Given the description of an element on the screen output the (x, y) to click on. 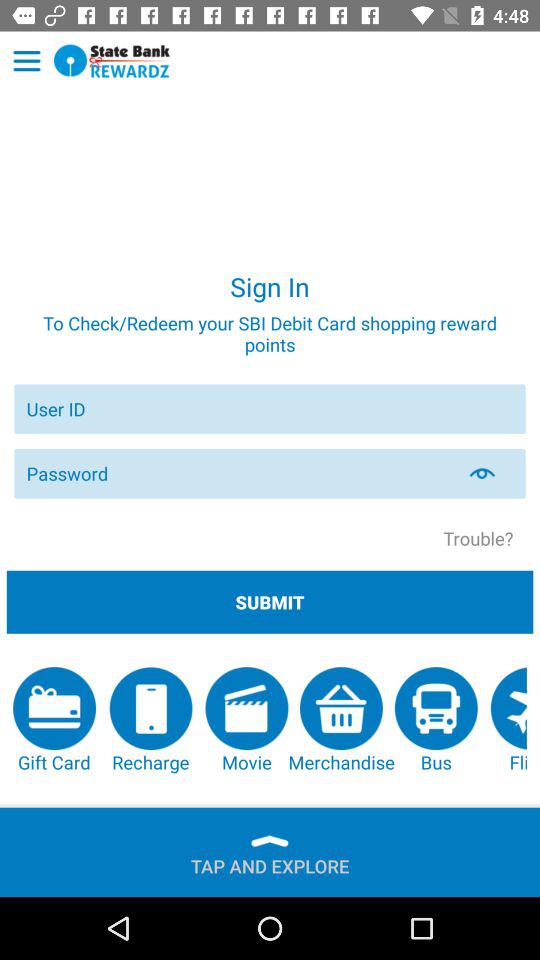
an icon of an eye for showing the password after it is typed (494, 473)
